Given the description of an element on the screen output the (x, y) to click on. 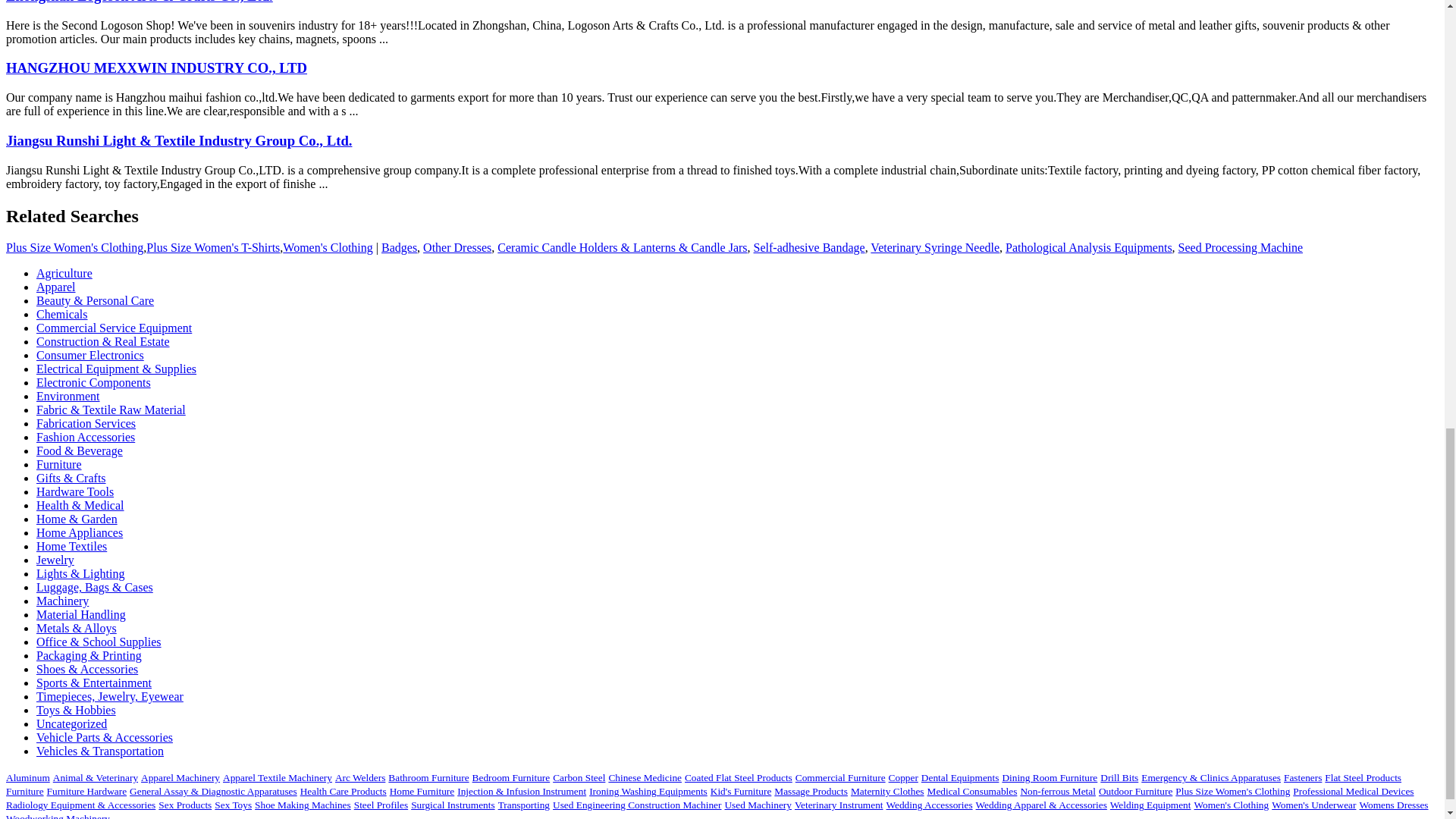
Electronic Components (93, 382)
Veterinary Syringe Needle (934, 246)
Consumer Electronics (90, 354)
Plus Size Women's Clothing (73, 246)
Self-adhesive Bandage (809, 246)
Apparel (55, 286)
Pathological Analysis Equipments (1089, 246)
Women's Clothing (327, 246)
Other Dresses (457, 246)
HANGZHOU MEXXWIN INDUSTRY CO., LTD (156, 67)
Commercial Service Equipment (114, 327)
Badges (398, 246)
Plus Size Women's T-Shirts (213, 246)
Seed Processing Machine (1240, 246)
Agriculture (64, 273)
